Given the description of an element on the screen output the (x, y) to click on. 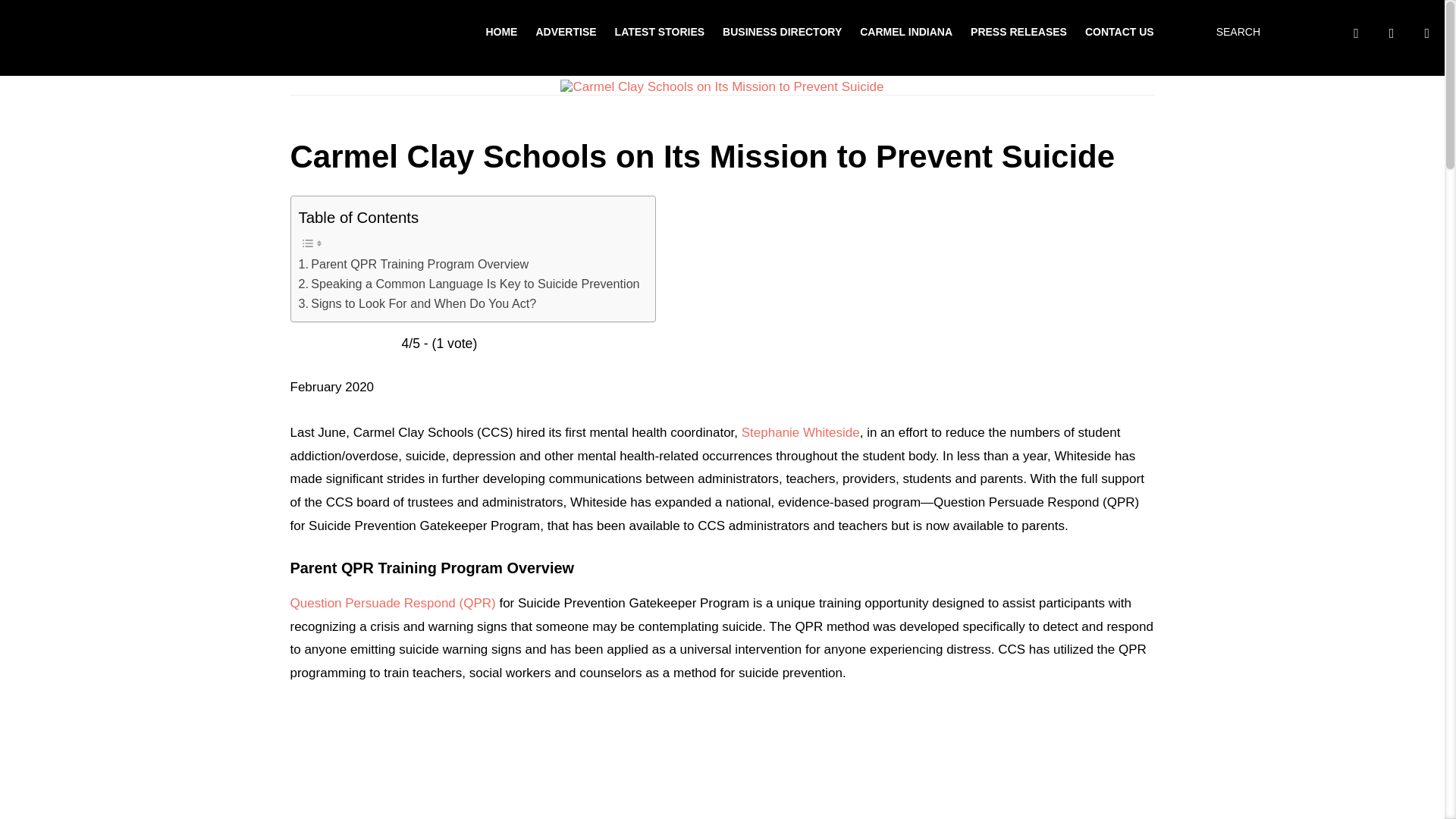
Stephanie Whiteside (800, 432)
CARMEL INDIANA (906, 31)
BUSINESS DIRECTORY (781, 31)
Signs to Look For and When Do You Act? (417, 303)
CONTACT US (1119, 31)
Parent QPR Training Program Overview (413, 264)
Parent QPR Training Program Overview (413, 264)
SEARCH (1234, 31)
ADVERTISE (565, 31)
Speaking a Common Language Is Key to Suicide Prevention (469, 284)
